Given the description of an element on the screen output the (x, y) to click on. 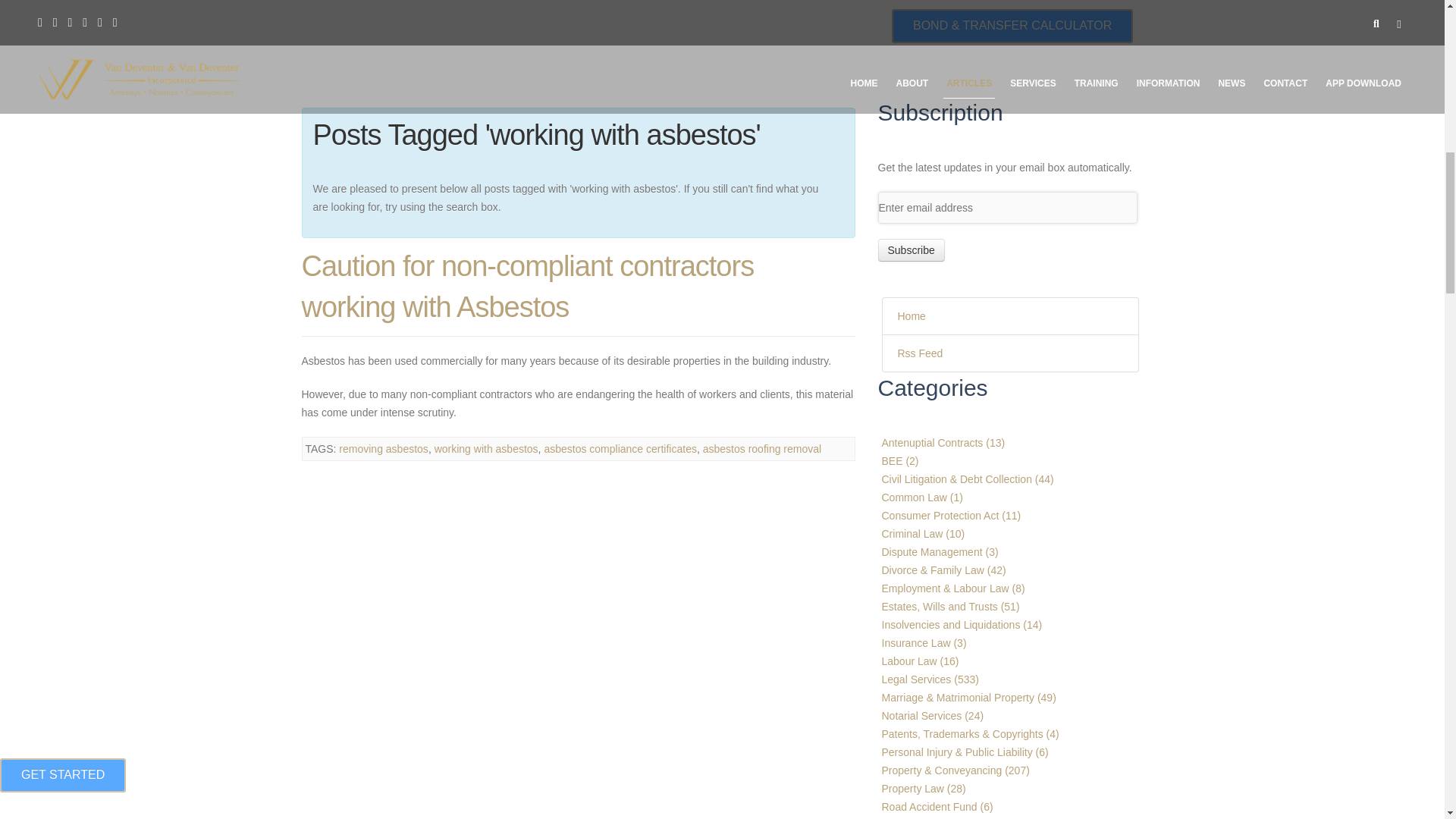
Book a Free Consultation (1010, 24)
View all posts filed under Antenuptial Contracts (942, 442)
